Given the description of an element on the screen output the (x, y) to click on. 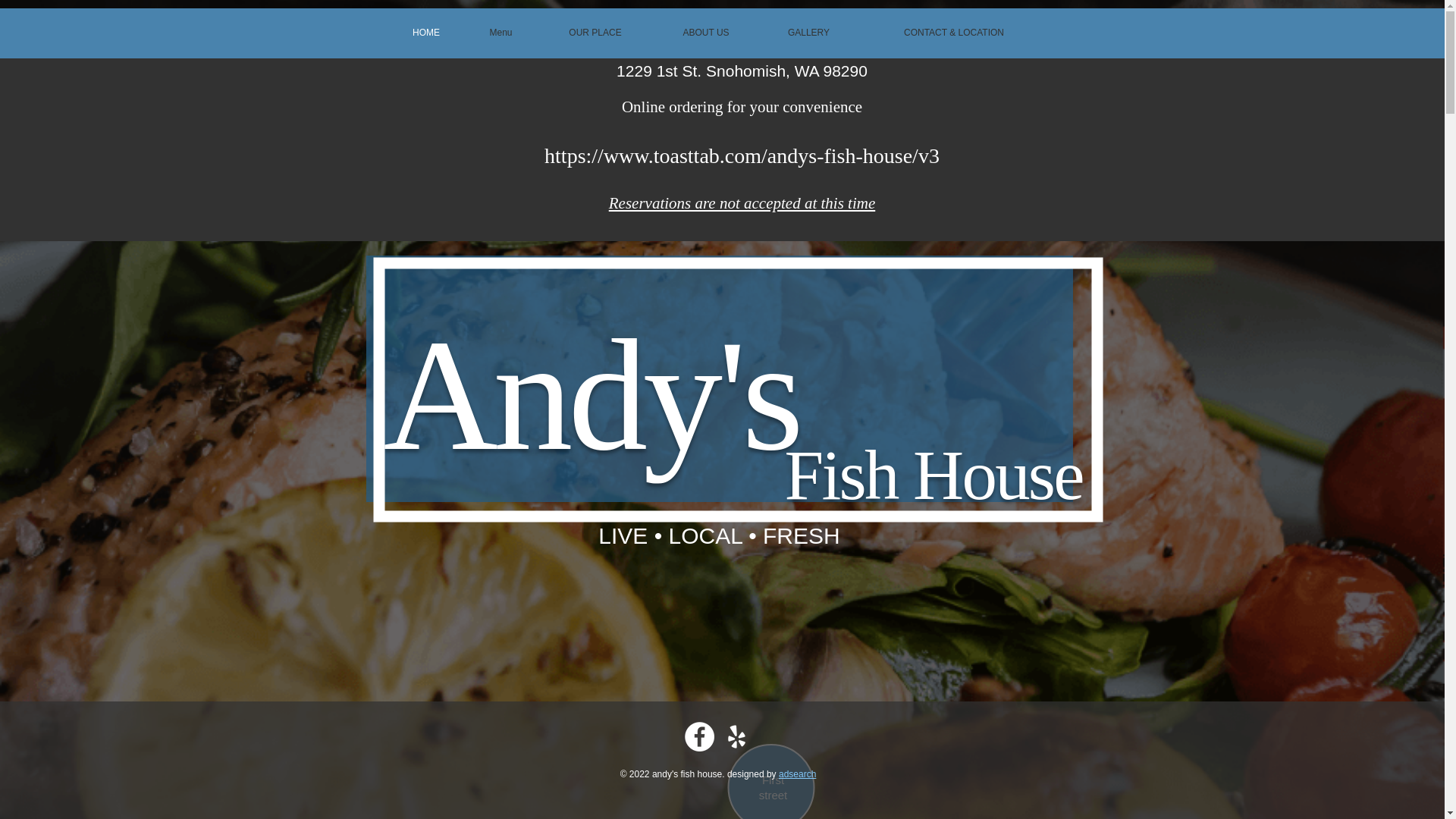
adsearch (796, 774)
Menu (501, 32)
HOME (425, 32)
ABOUT US (705, 32)
First (772, 779)
OUR PLACE (595, 32)
GALLERY (809, 32)
